Given the description of an element on the screen output the (x, y) to click on. 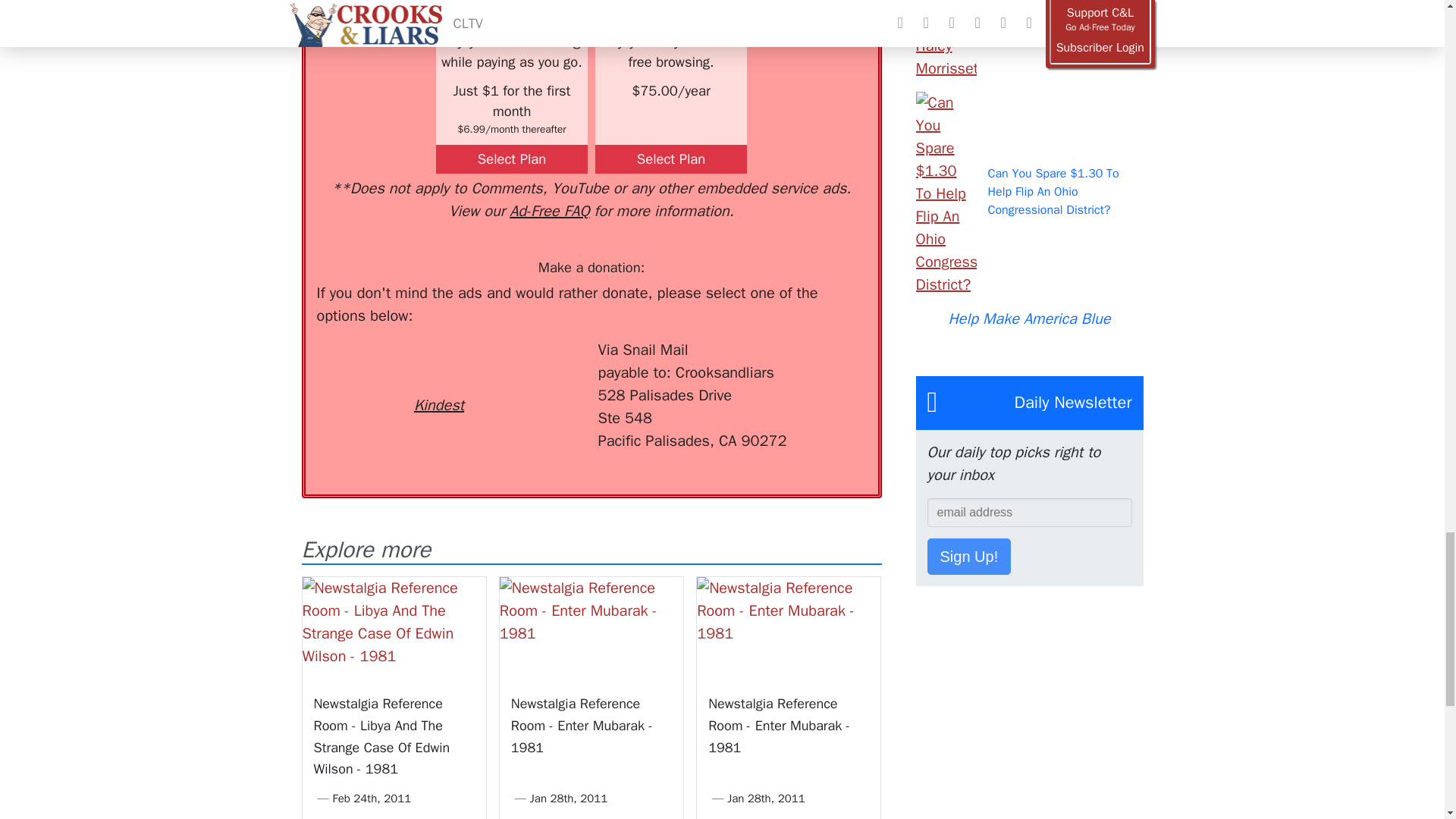
Donate via Kindest (438, 377)
Donate via PayPal (540, 366)
